Given the description of an element on the screen output the (x, y) to click on. 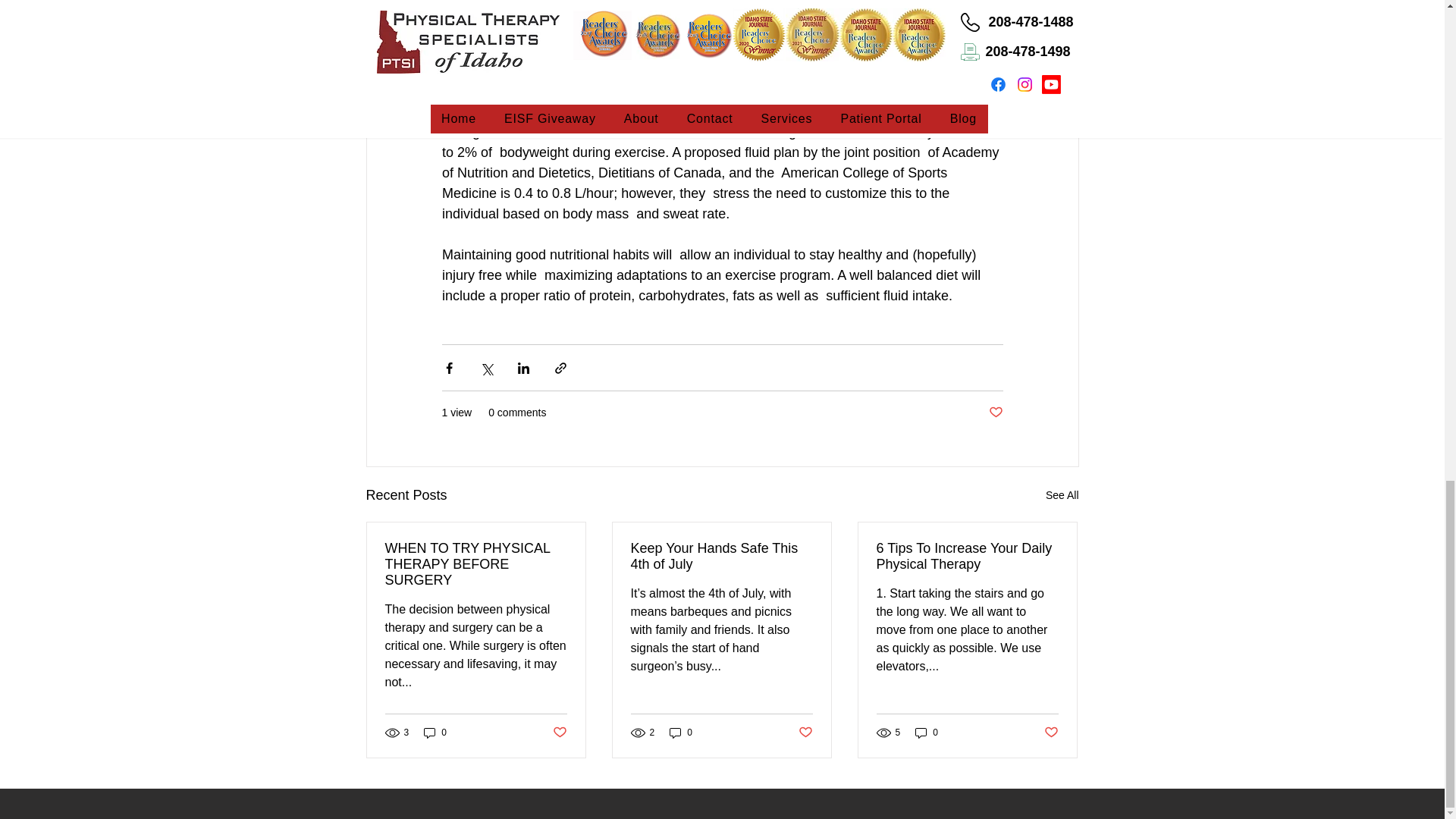
Post not marked as liked (995, 412)
Post not marked as liked (558, 732)
See All (1061, 495)
Keep Your Hands Safe This 4th of July (721, 556)
0 (681, 731)
Post not marked as liked (804, 732)
6 Tips To Increase Your Daily Physical Therapy (967, 556)
0 (435, 731)
WHEN TO TRY PHYSICAL THERAPY BEFORE SURGERY (476, 564)
